Given the description of an element on the screen output the (x, y) to click on. 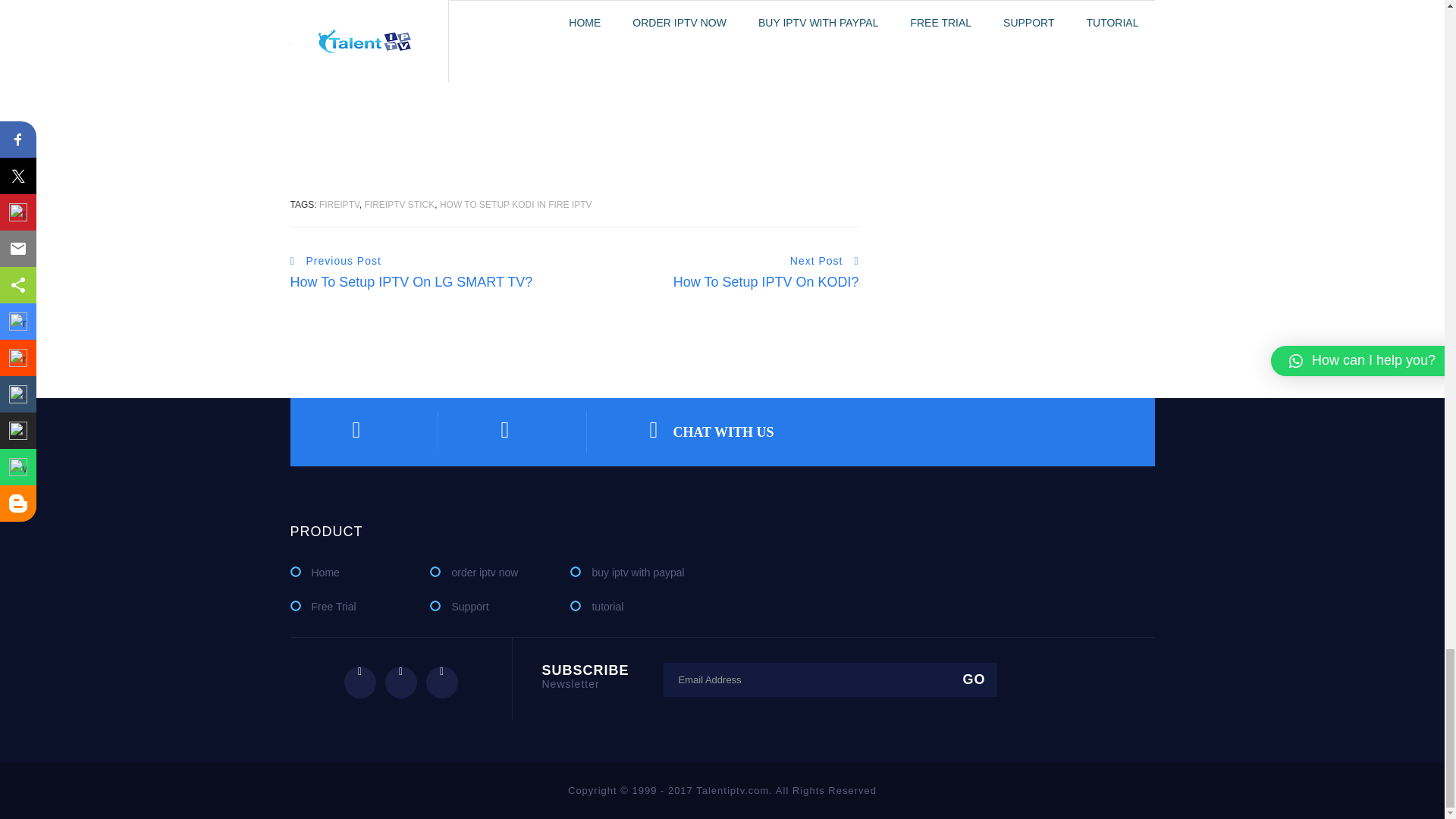
HOW TO SETUP KODI IN FIRE IPTV (515, 204)
FIREIPTV STICK (400, 204)
CHAT WITH US (710, 432)
How To Setup IPTV On LG SMART TV? (410, 282)
buy iptv with paypal (627, 572)
Next Post (824, 261)
FIREIPTV (338, 204)
How To Setup IPTV On KODI? (765, 282)
Previous Post (334, 261)
tutorial (596, 606)
Free Trial (322, 606)
Support (458, 606)
Go (972, 679)
order iptv now (473, 572)
Home (314, 572)
